Given the description of an element on the screen output the (x, y) to click on. 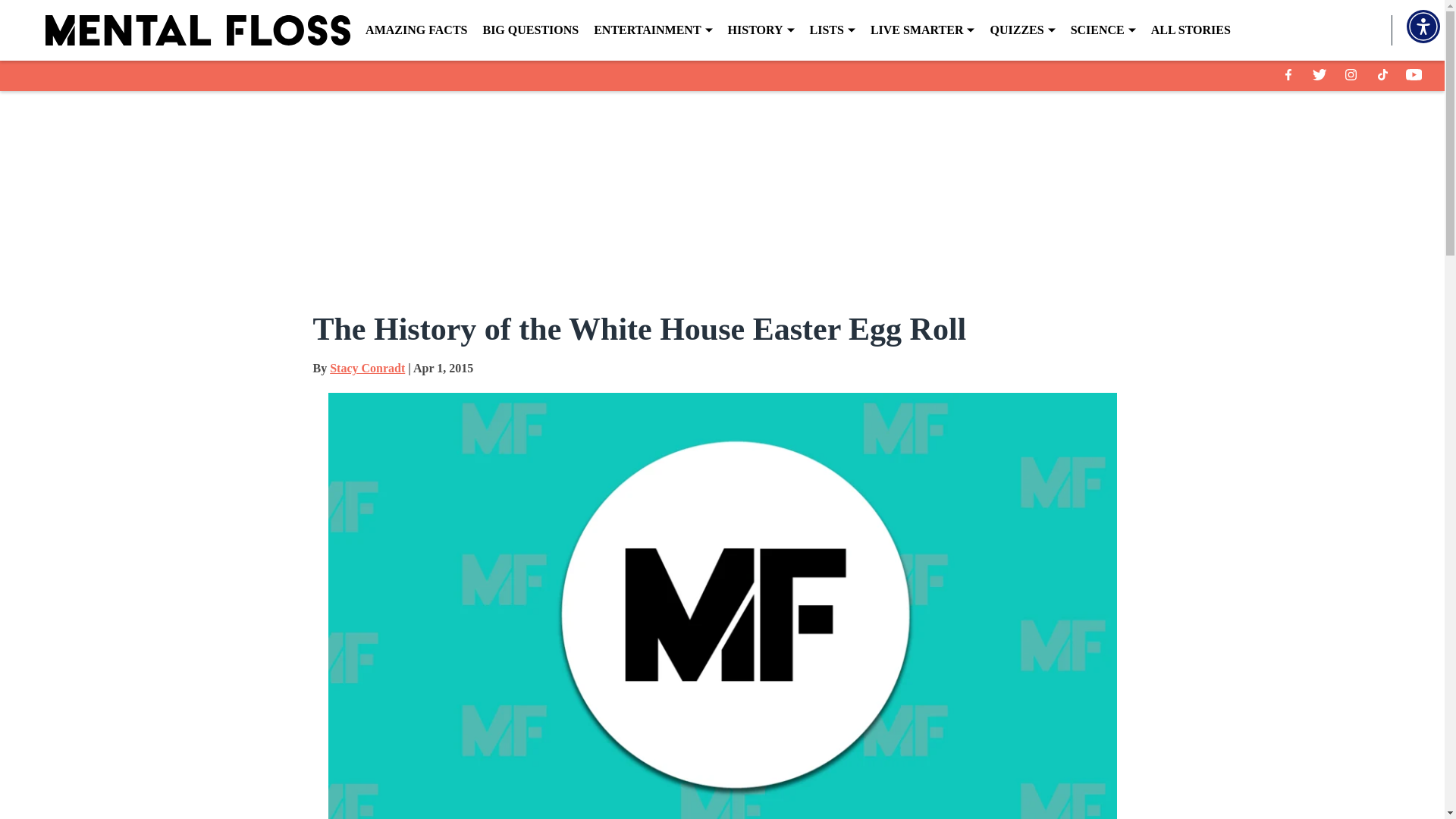
ALL STORIES (1190, 30)
BIG QUESTIONS (529, 30)
Accessibility Menu (1422, 26)
AMAZING FACTS (416, 30)
